Given the description of an element on the screen output the (x, y) to click on. 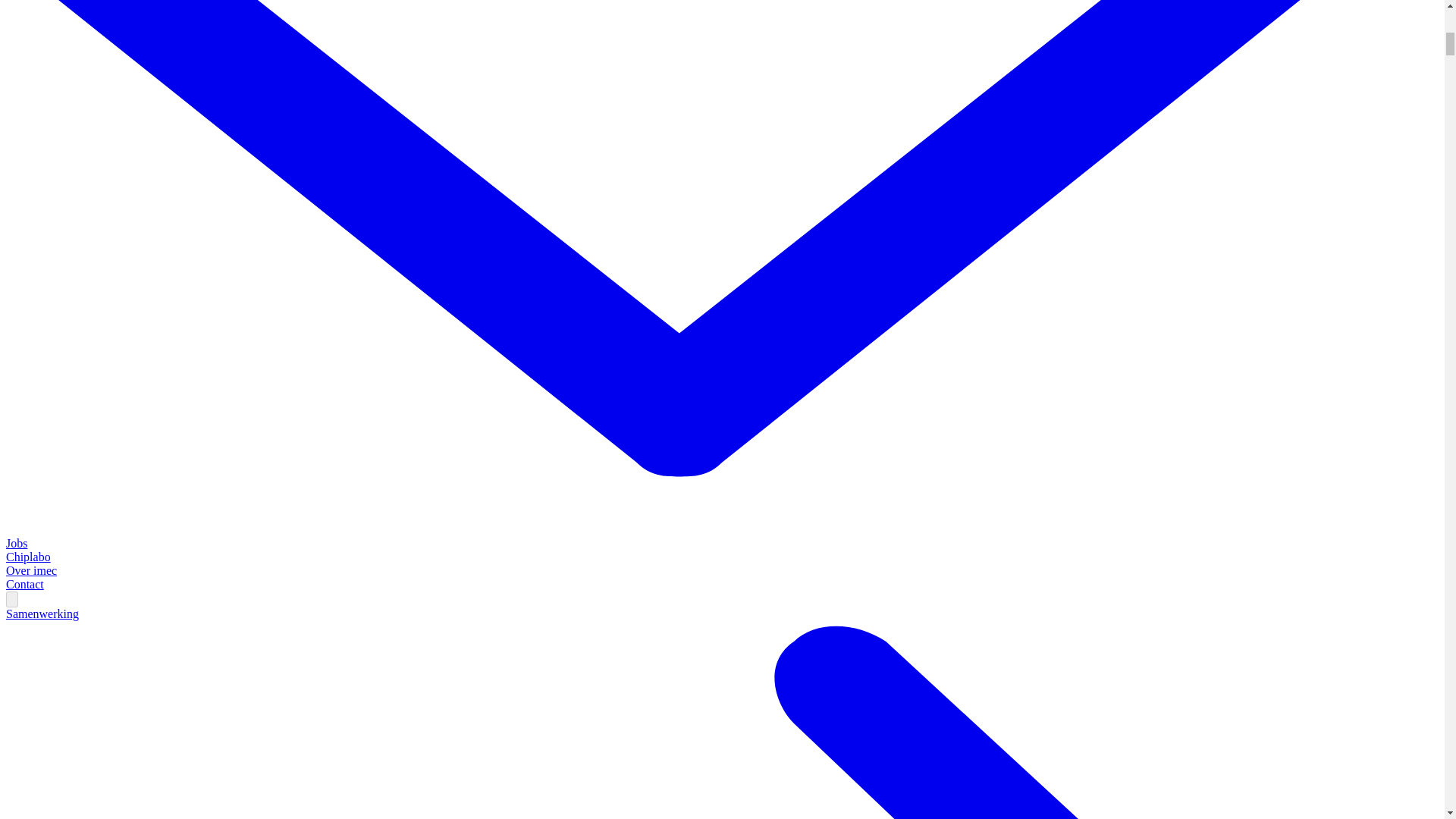
Chiplabo (27, 556)
Over imec (30, 570)
Jobs (16, 543)
Contact (24, 584)
